Given the description of an element on the screen output the (x, y) to click on. 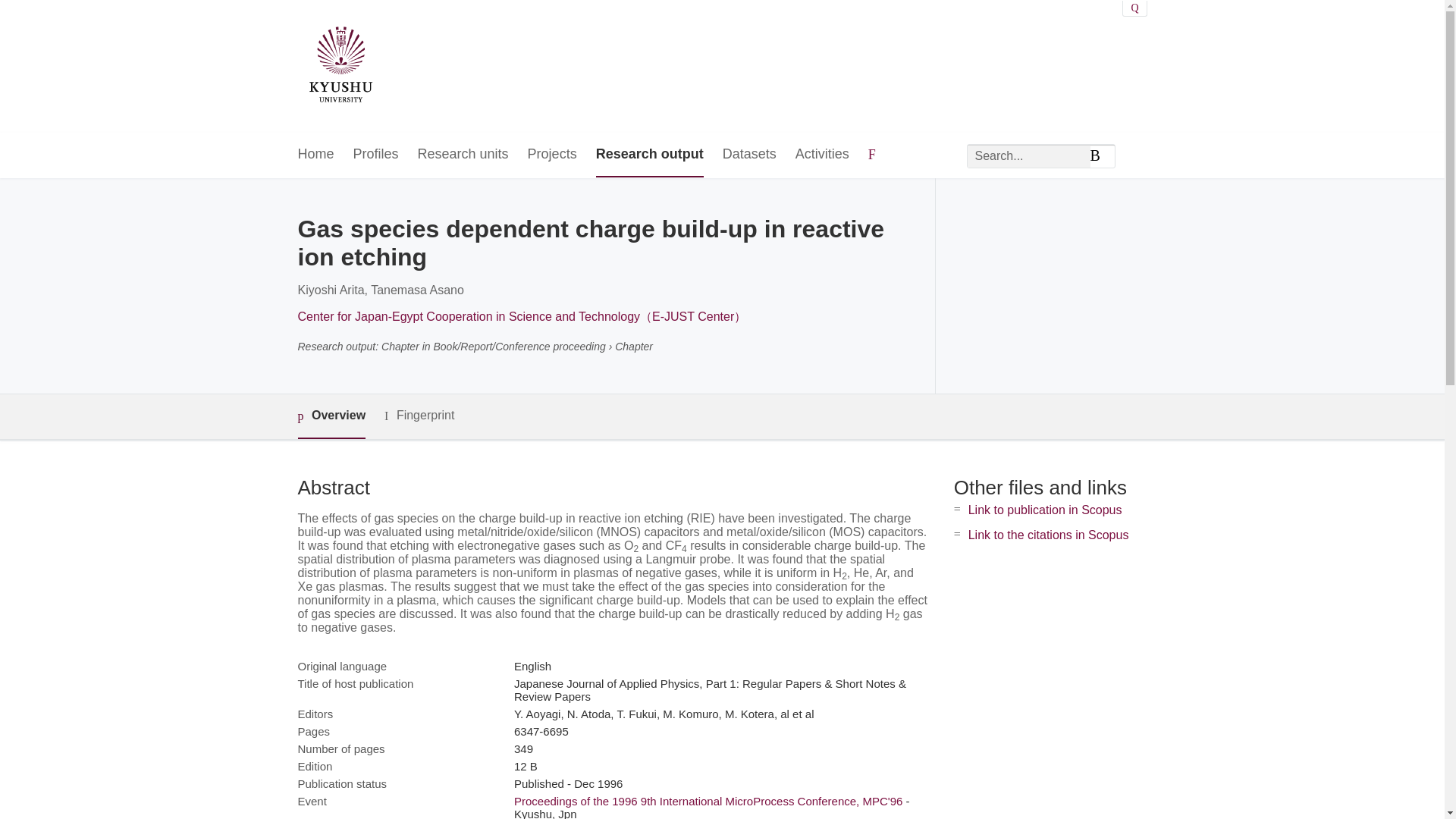
Link to the citations in Scopus (1048, 534)
Link to publication in Scopus (1045, 509)
Datasets (749, 154)
Activities (821, 154)
Research units (462, 154)
Projects (551, 154)
Profiles (375, 154)
Fingerprint (419, 415)
